Given the description of an element on the screen output the (x, y) to click on. 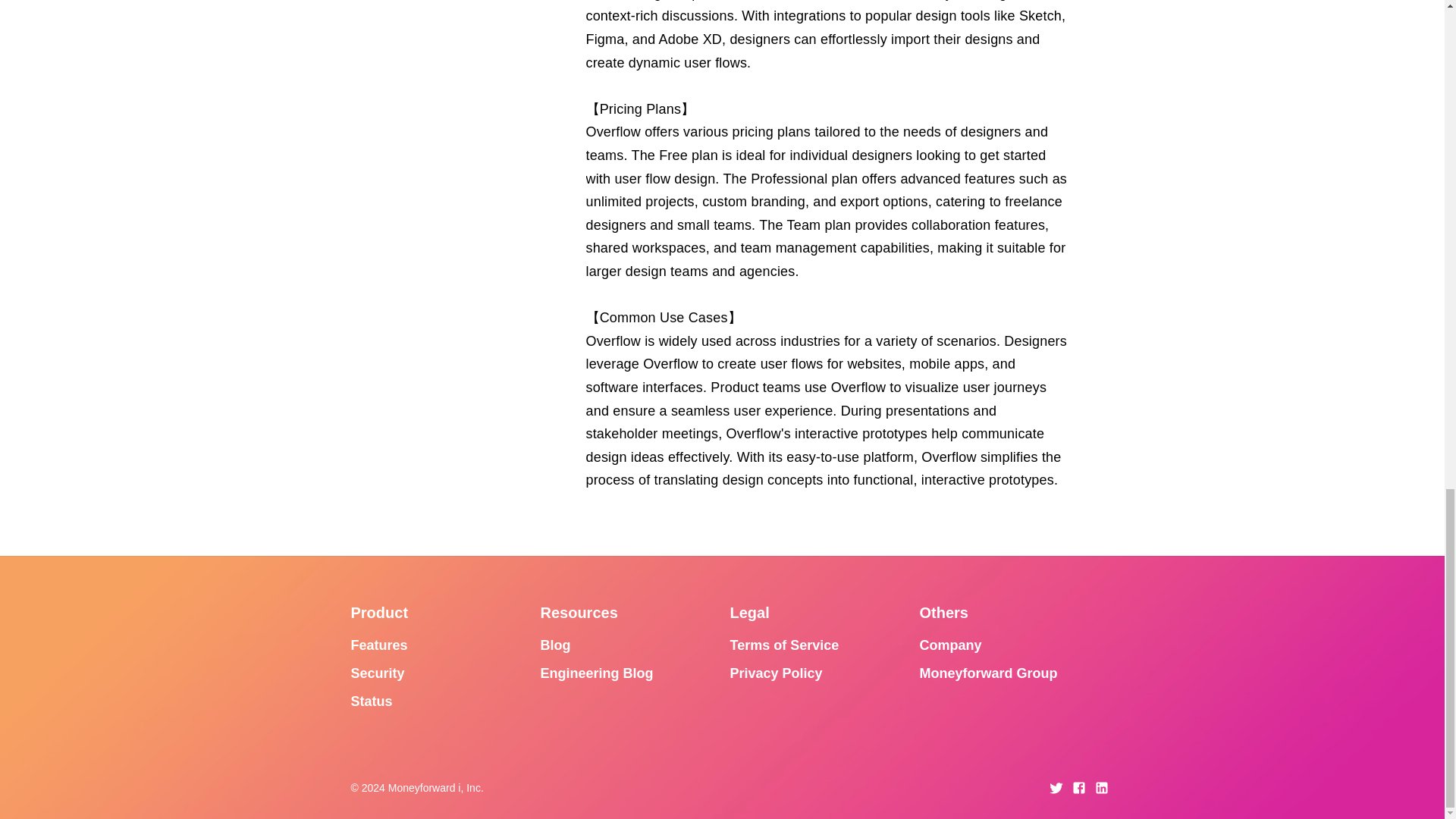
Status (370, 701)
Moneyforward Group (987, 672)
Blog (555, 645)
Company (949, 645)
Features (378, 645)
Security (377, 672)
Privacy Policy (775, 672)
Terms of Service (783, 645)
Engineering Blog (596, 672)
